Given the description of an element on the screen output the (x, y) to click on. 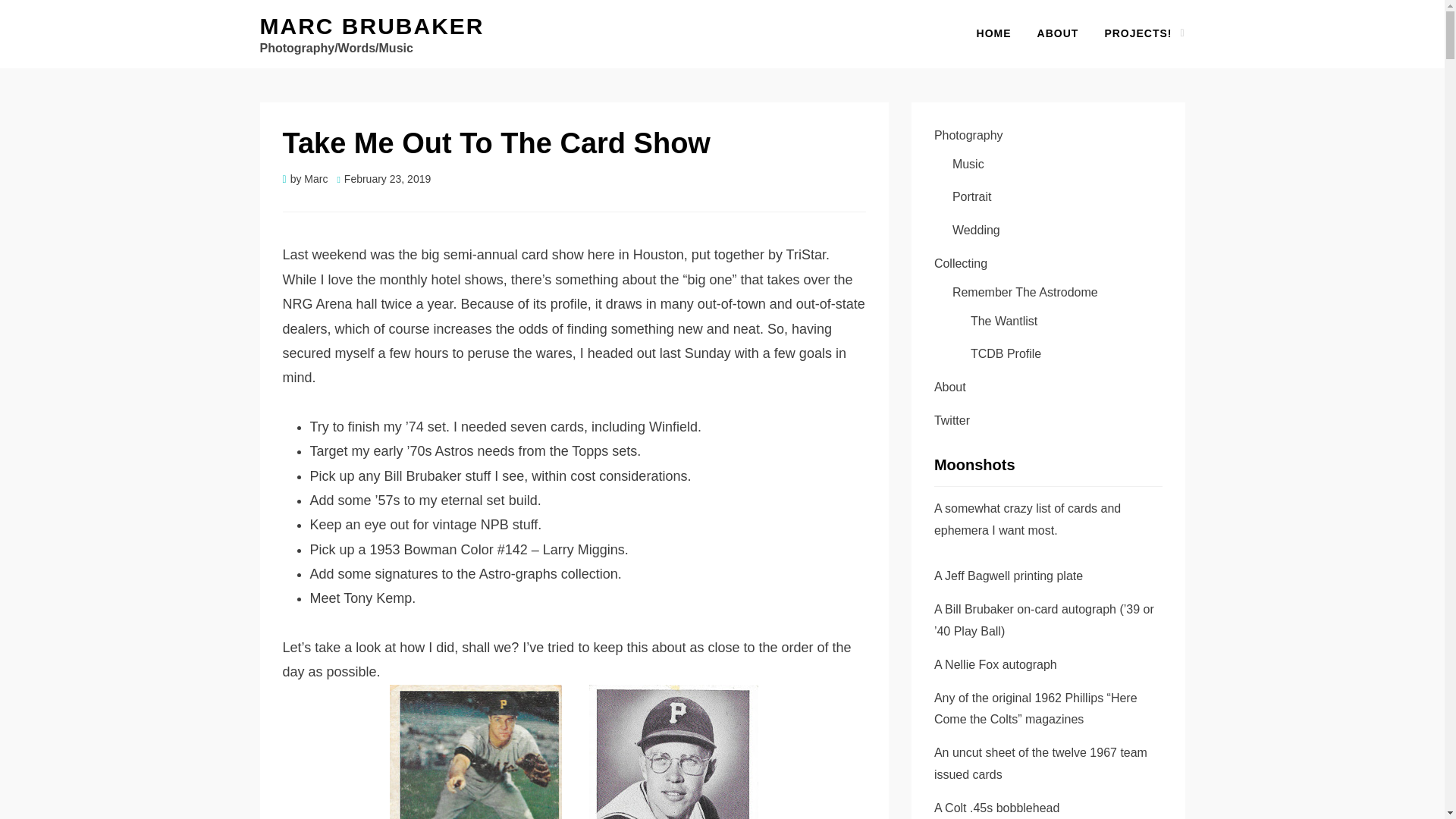
Marc Brubaker (371, 25)
PROJECTS! (1137, 33)
Marc (315, 178)
February 23, 2019 (383, 178)
ABOUT (1058, 33)
HOME (994, 33)
MARC BRUBAKER (371, 25)
